Given the description of an element on the screen output the (x, y) to click on. 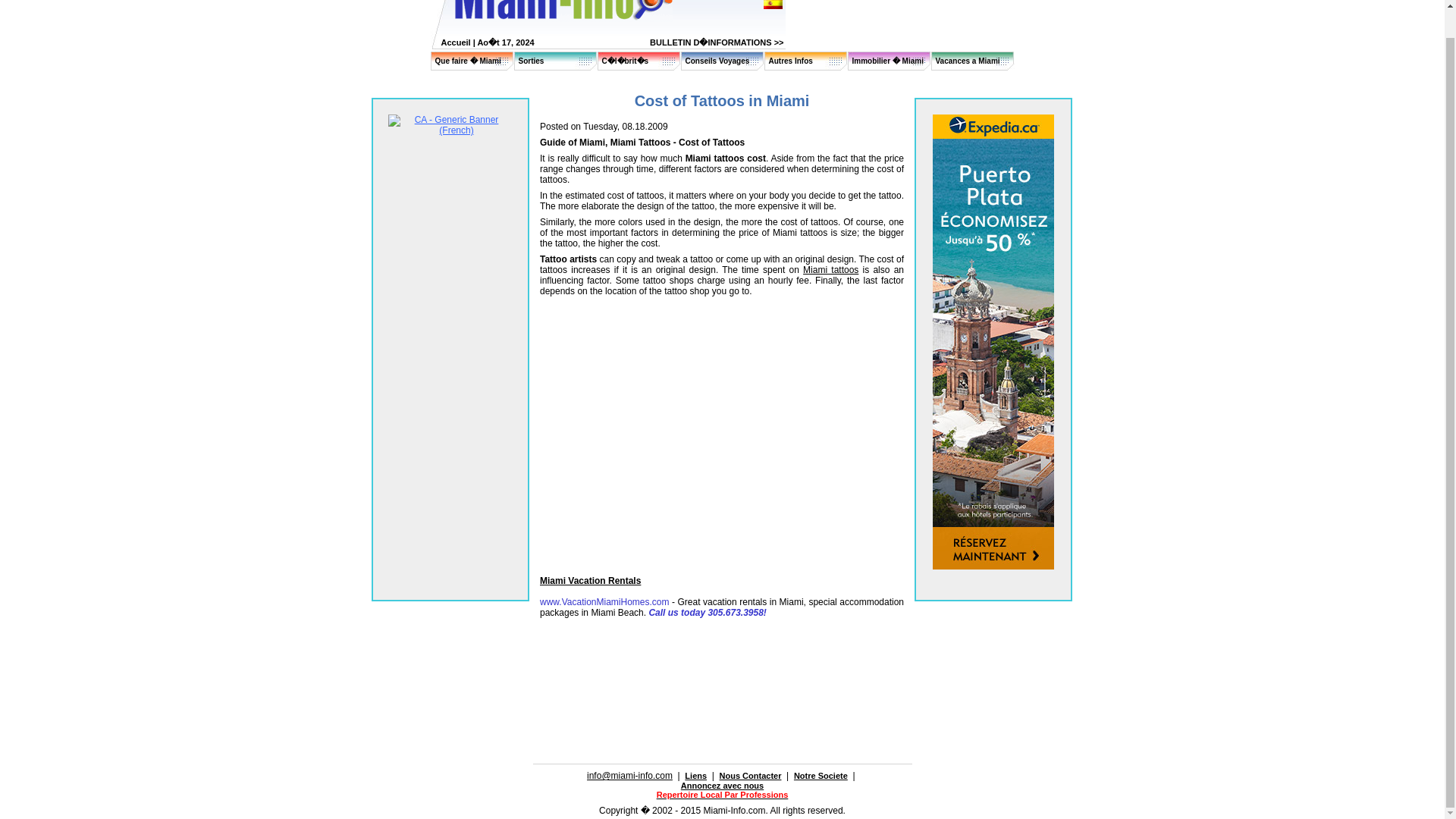
Conseils Voyages (717, 60)
Sorties (531, 60)
Vacances a Miami (968, 60)
Accueil (455, 41)
Advertisement (717, 713)
Autres Infos (790, 60)
Advertisement (717, 668)
